Given the description of an element on the screen output the (x, y) to click on. 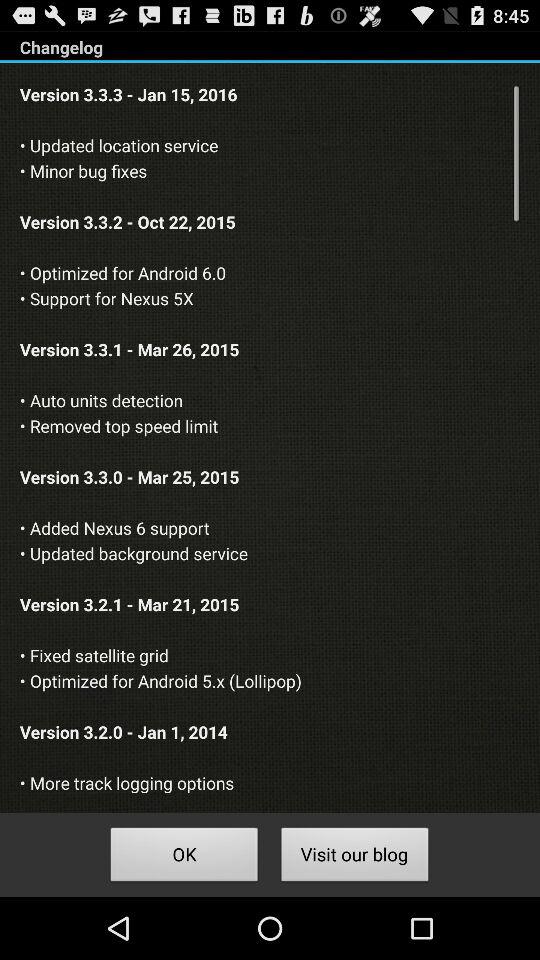
press button next to the ok icon (354, 857)
